Given the description of an element on the screen output the (x, y) to click on. 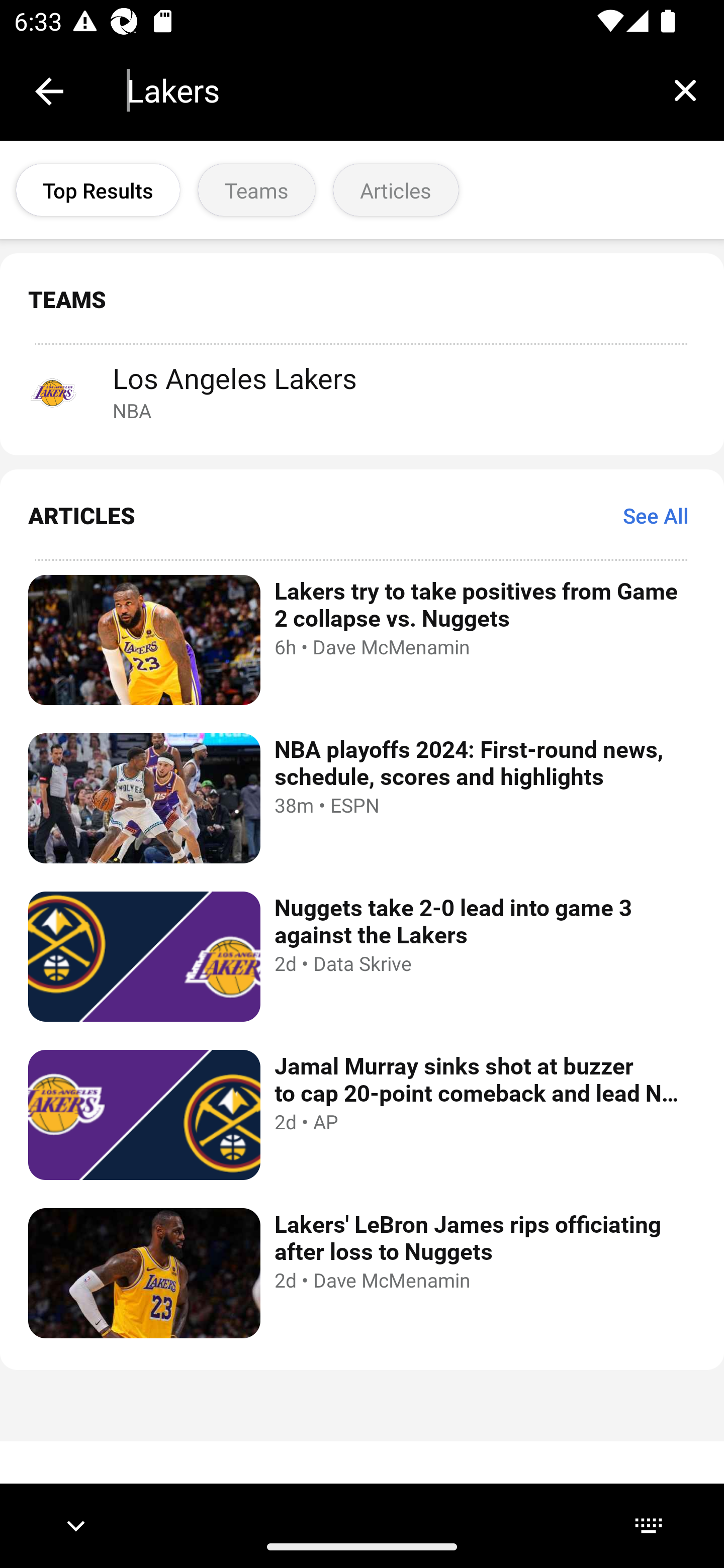
Collapse (49, 91)
Clear query (685, 89)
Lakers (386, 90)
Top Results (97, 190)
Teams (256, 190)
Articles (395, 190)
Los Angeles Lakers : NBA Los Angeles Lakers NBA (362, 390)
See All (655, 514)
